Given the description of an element on the screen output the (x, y) to click on. 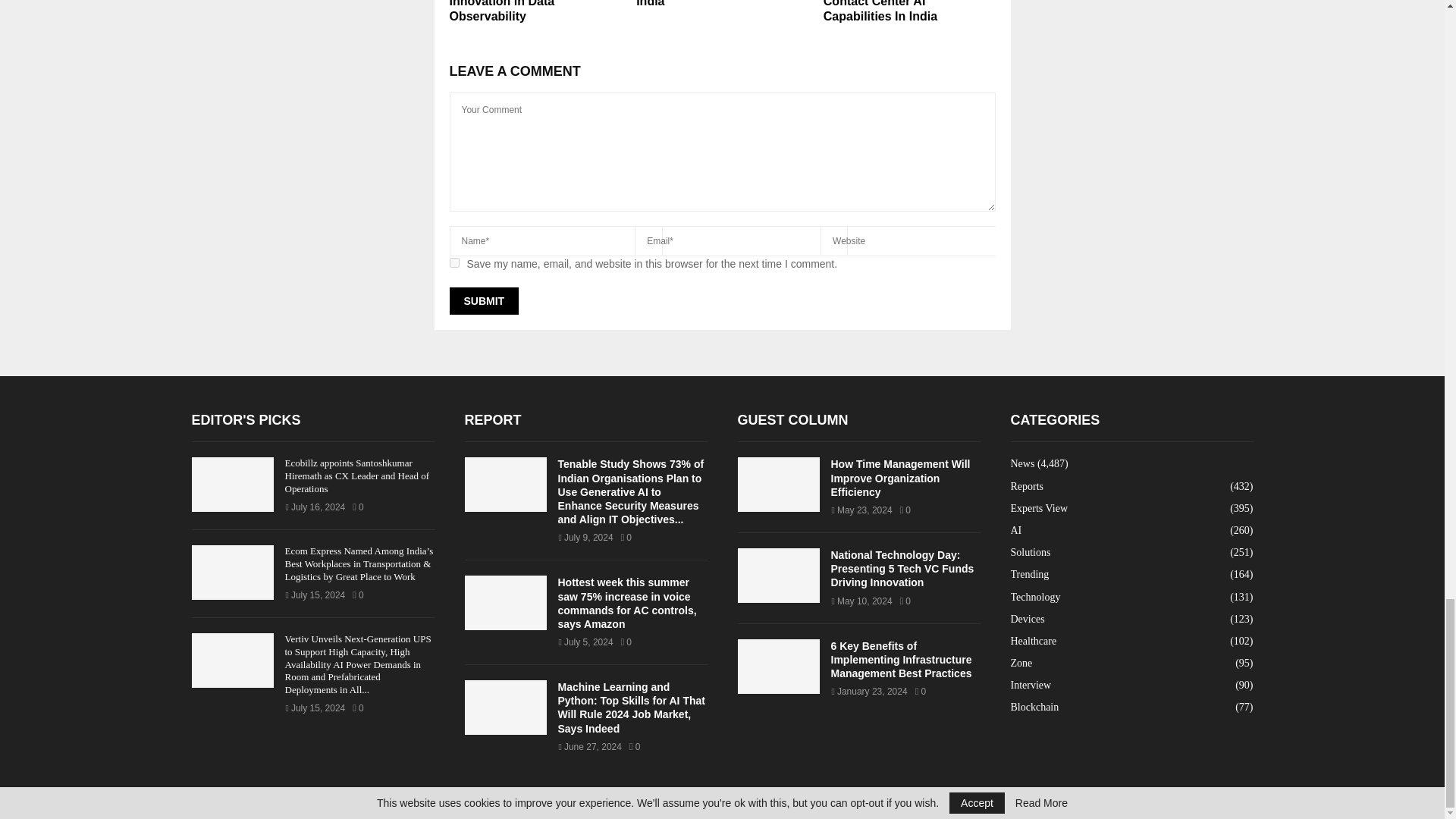
Submit (483, 300)
yes (453, 262)
